Given the description of an element on the screen output the (x, y) to click on. 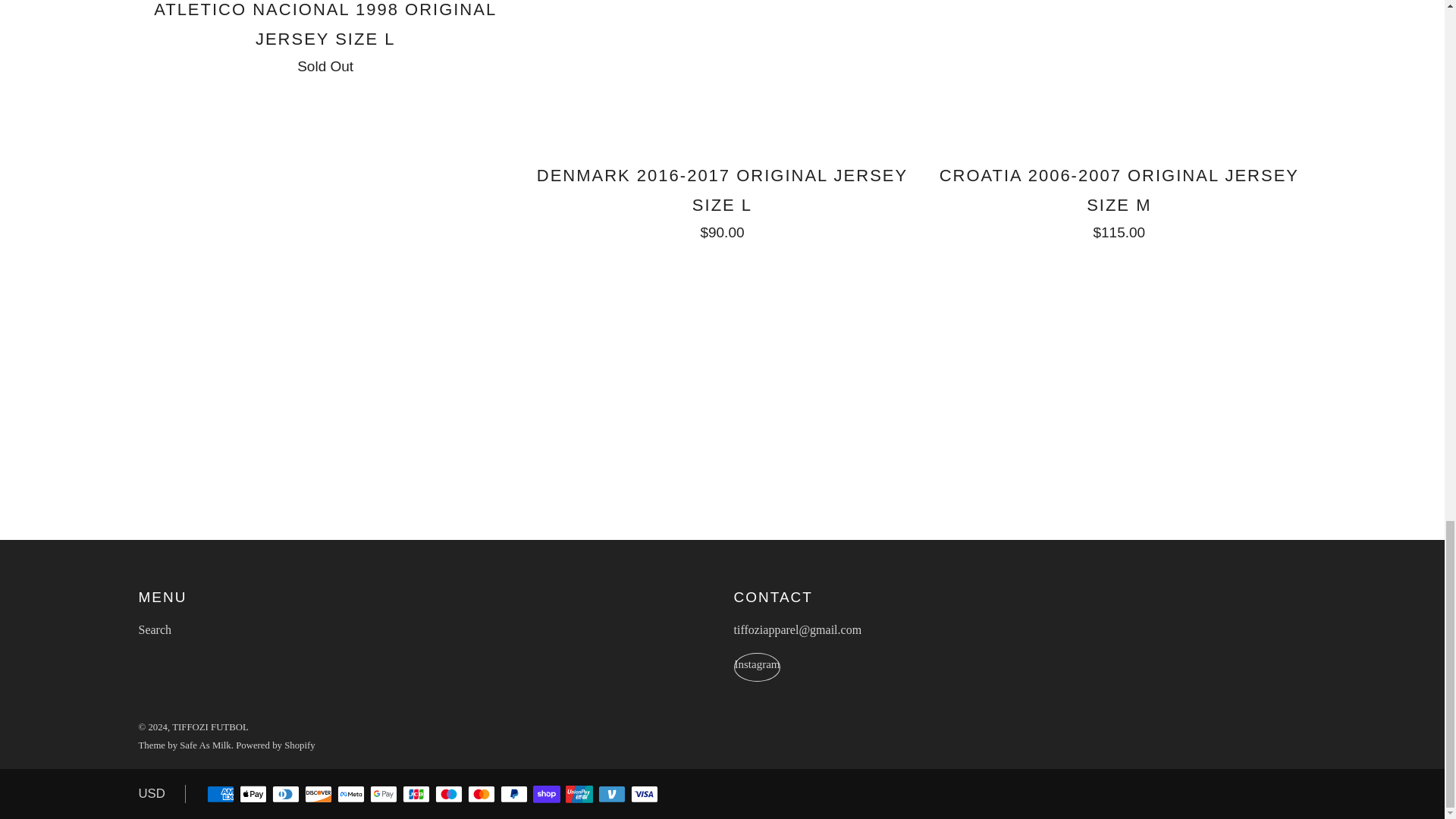
ATLETICO NACIONAL 1998 ORIGINAL JERSEY Size L (325, 36)
DENMARK 2016-2017 ORIGINAL JERSEY Size L (721, 199)
CROATIA 2006-2007 ORIGINAL JERSEY Size M (1118, 199)
